Given the description of an element on the screen output the (x, y) to click on. 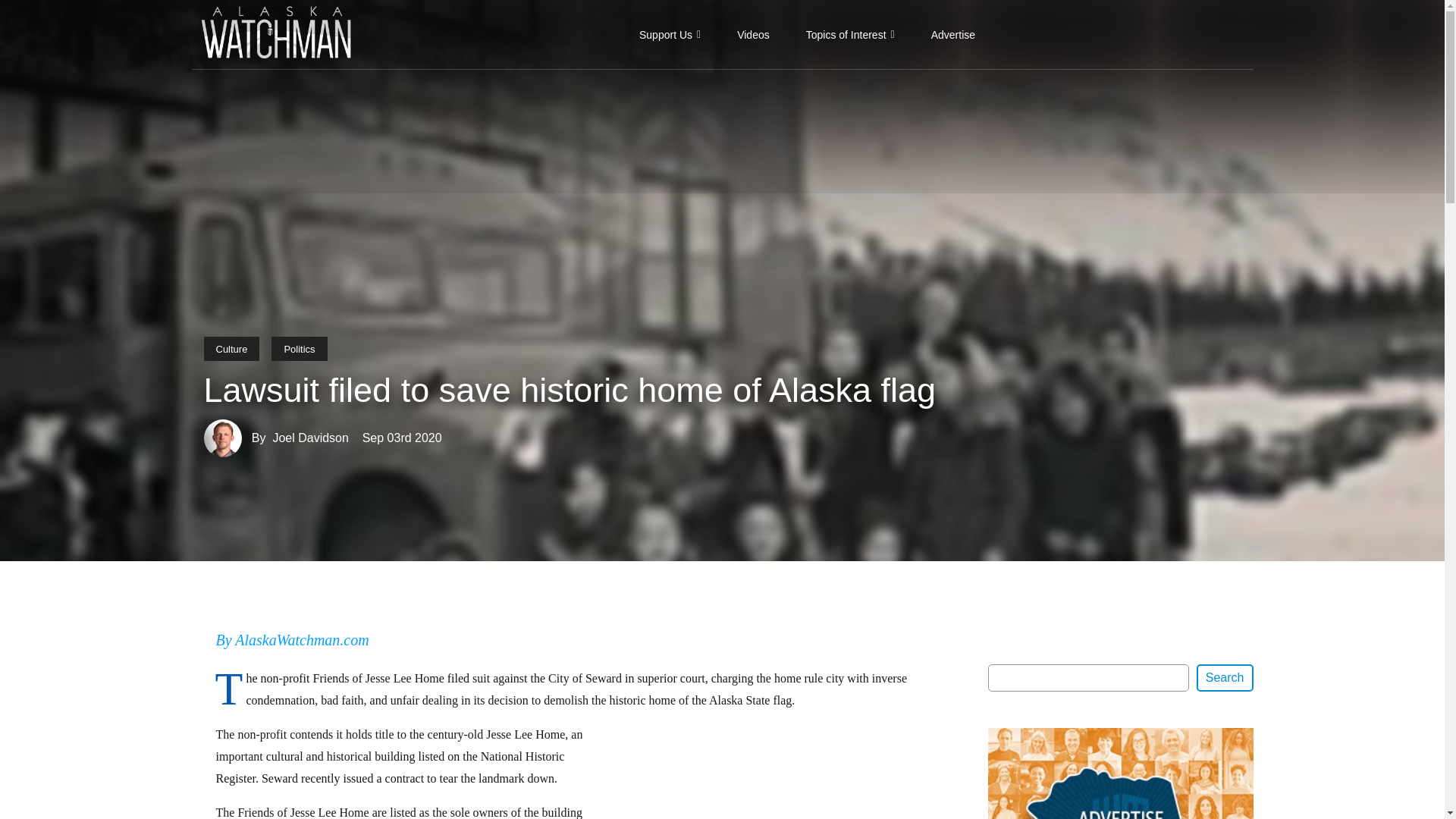
Topics of Interest (849, 34)
Support Us (669, 34)
Videos (753, 34)
Advertise (952, 34)
